Given the description of an element on the screen output the (x, y) to click on. 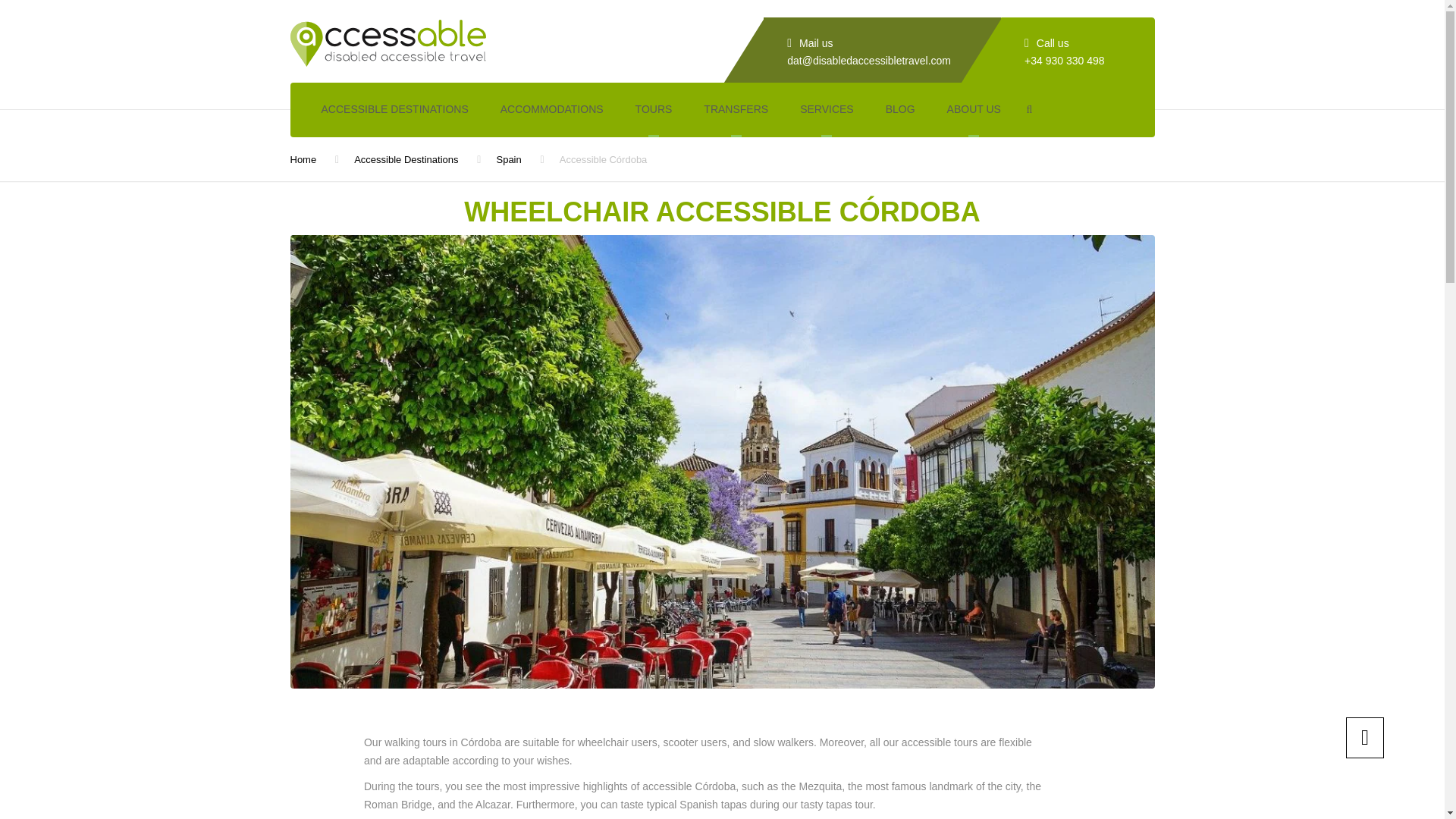
BLOG (900, 109)
ACCOMMODATIONS (552, 109)
Home (302, 159)
ABOUT US (973, 109)
SERVICES (826, 109)
Accessible Destinations (405, 159)
ACCESSIBLE DESTINATIONS (393, 109)
TRANSFERS (735, 109)
Scroll to top (1364, 737)
Spain (508, 159)
